Given the description of an element on the screen output the (x, y) to click on. 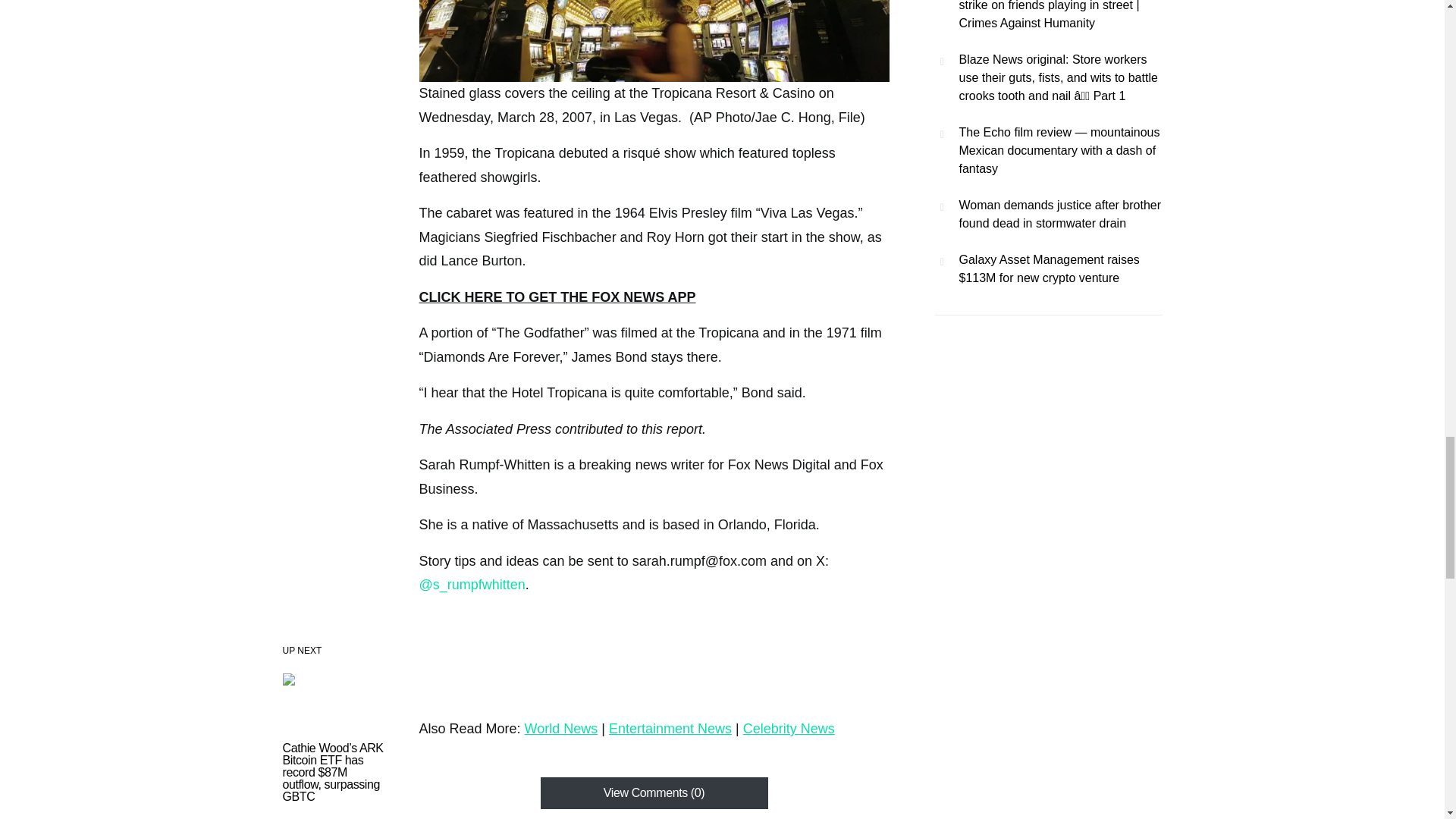
World News (561, 728)
Entertainment News (670, 728)
Celebrity News (788, 728)
